Given the description of an element on the screen output the (x, y) to click on. 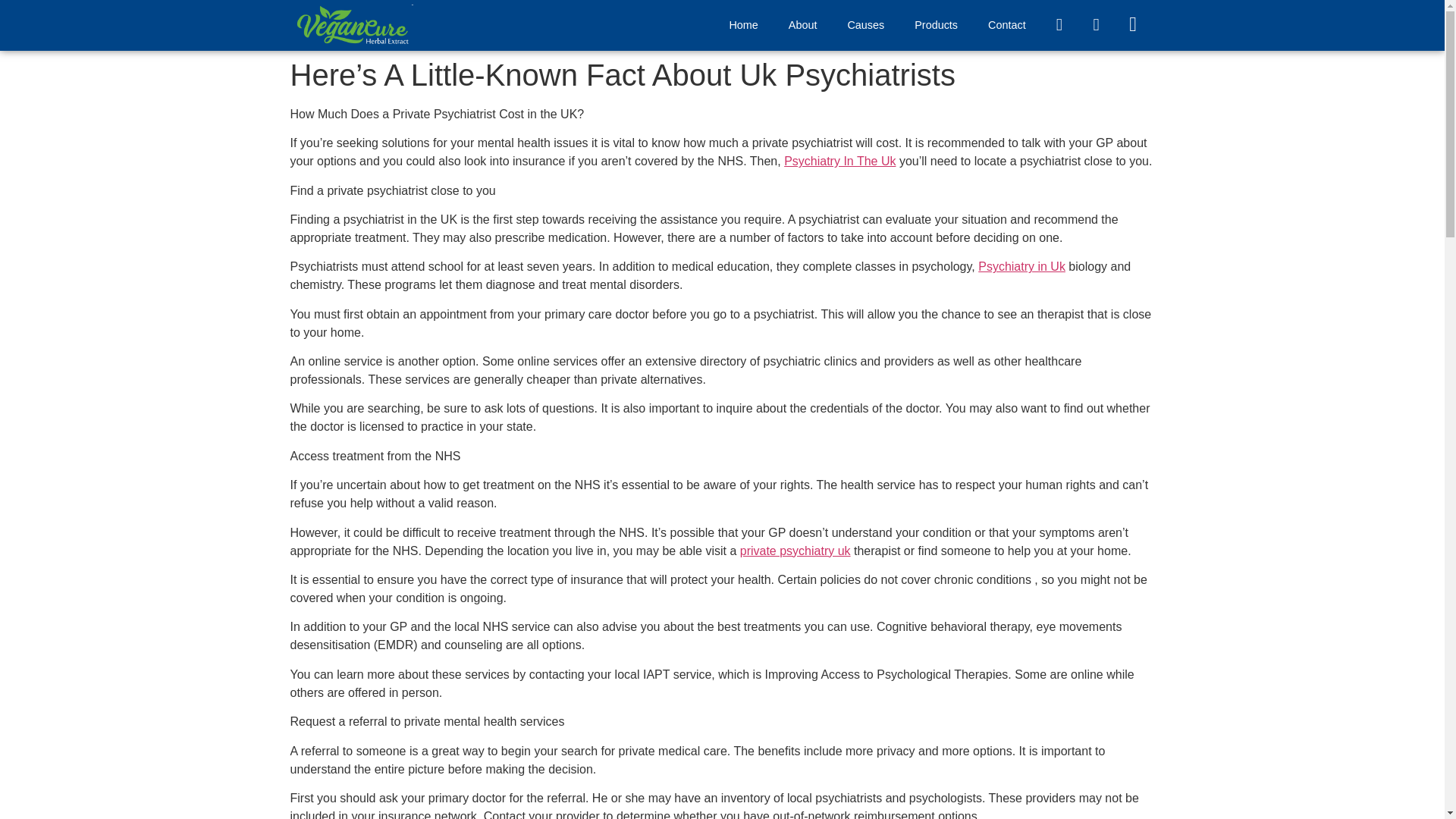
Contact (1006, 24)
About (802, 24)
Products (935, 24)
Causes (865, 24)
Home (743, 24)
